Given the description of an element on the screen output the (x, y) to click on. 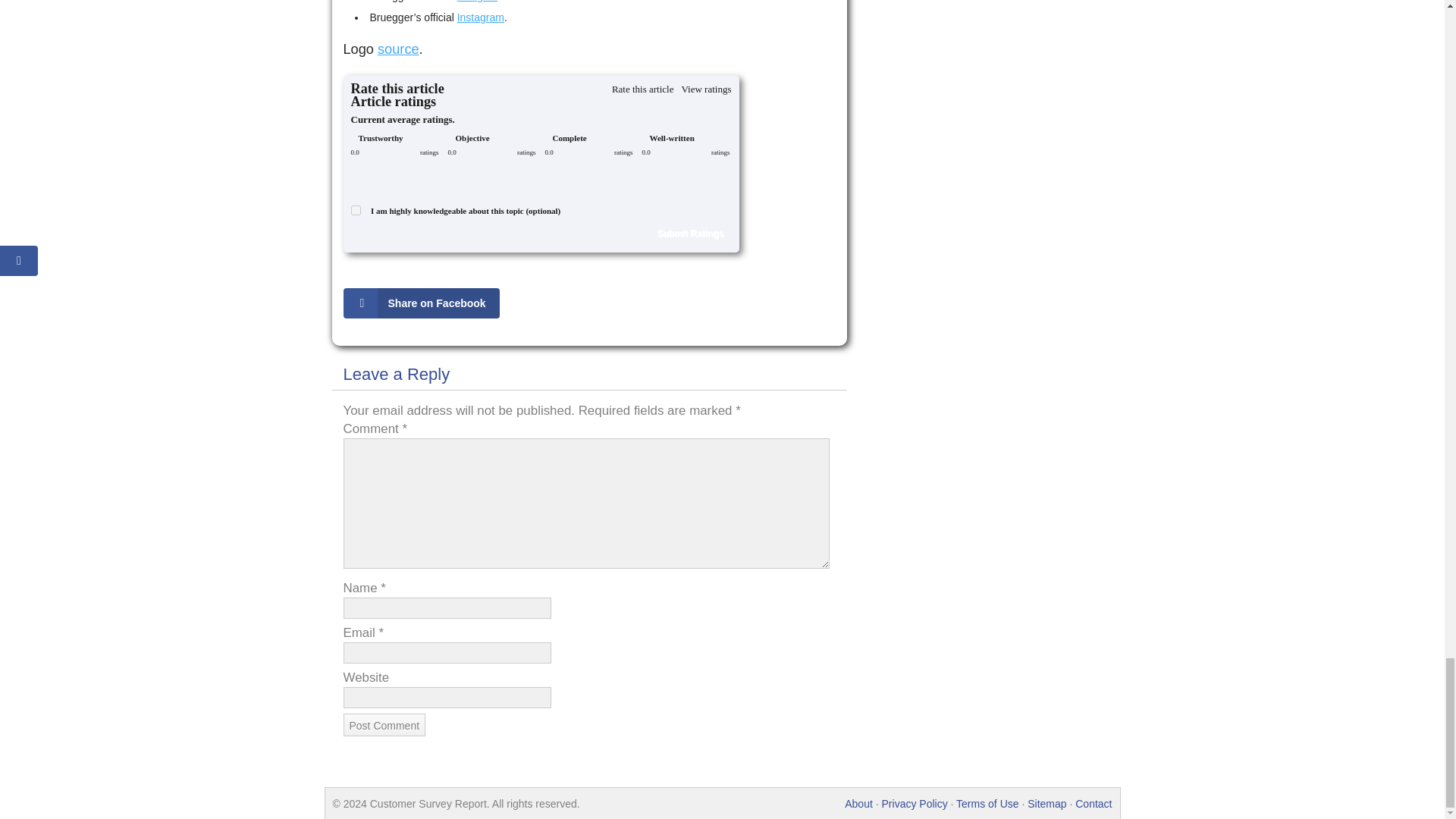
source (398, 48)
Submit Ratings (689, 232)
Instagram (480, 17)
Share on Facebook (423, 303)
Post Comment (383, 724)
Post Comment (383, 724)
